Given the description of an element on the screen output the (x, y) to click on. 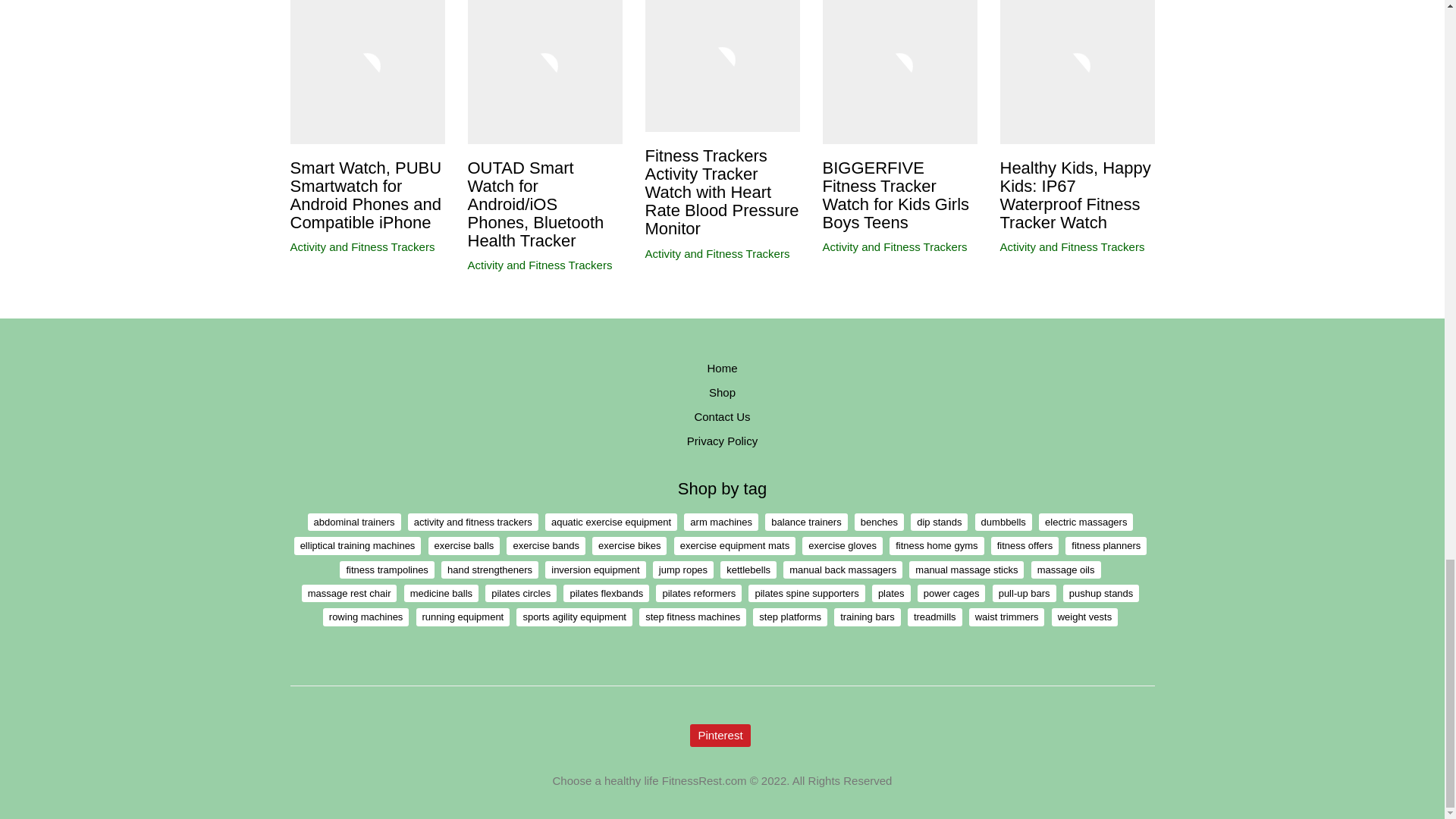
Pinterest (719, 734)
